Given the description of an element on the screen output the (x, y) to click on. 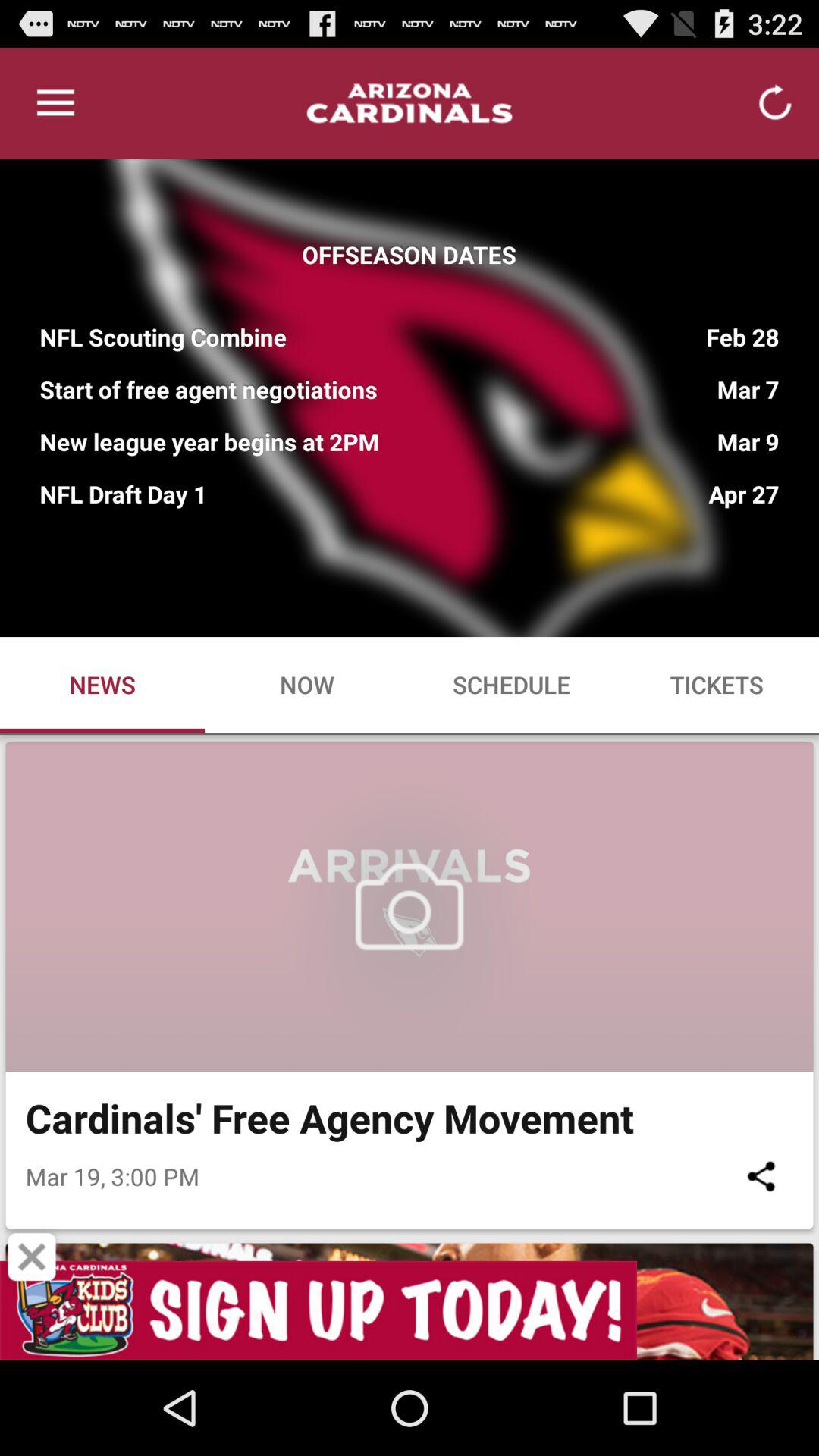
sign up banner (409, 1310)
